Given the description of an element on the screen output the (x, y) to click on. 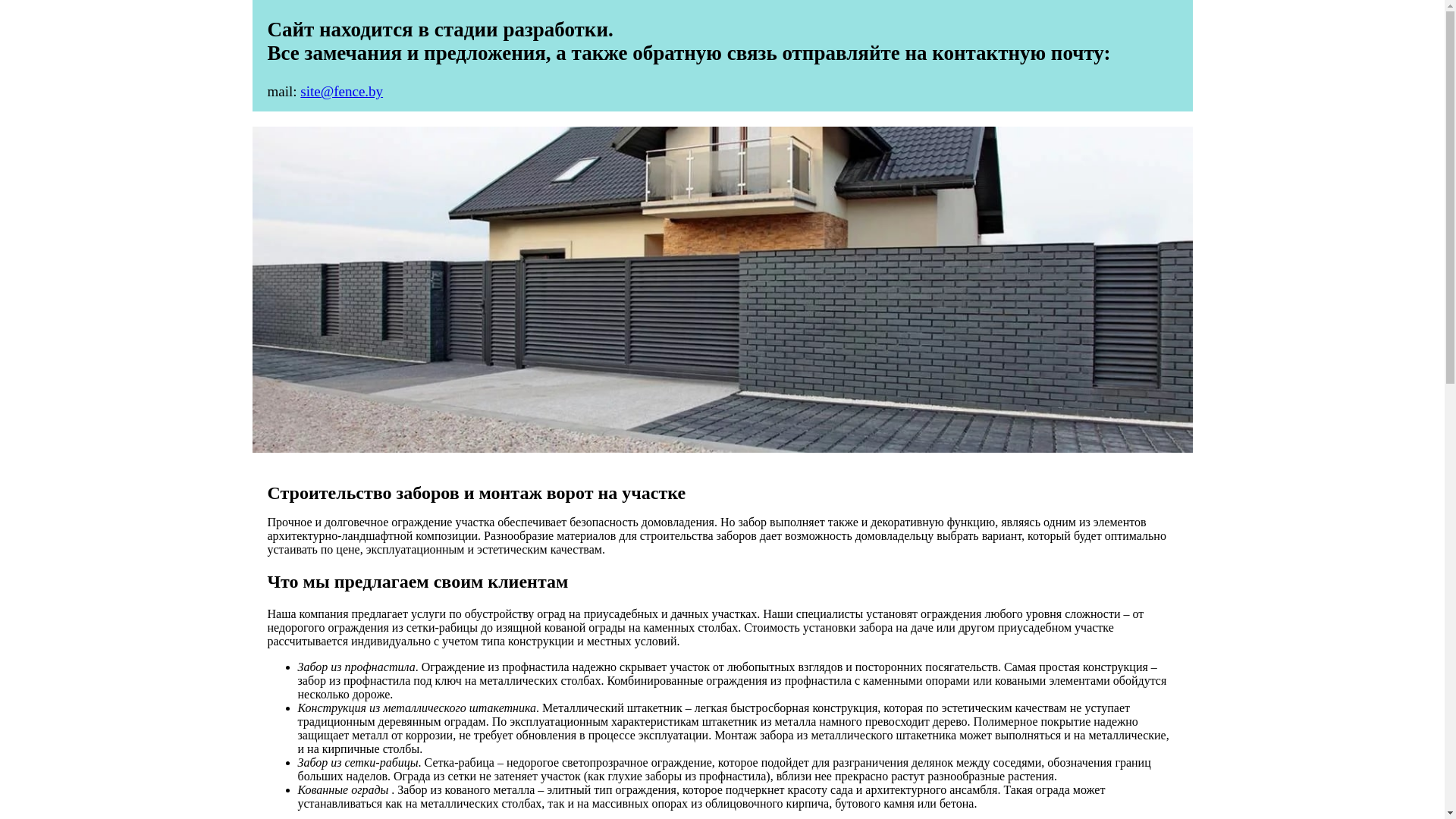
site@fence.by Element type: text (341, 91)
